Given the description of an element on the screen output the (x, y) to click on. 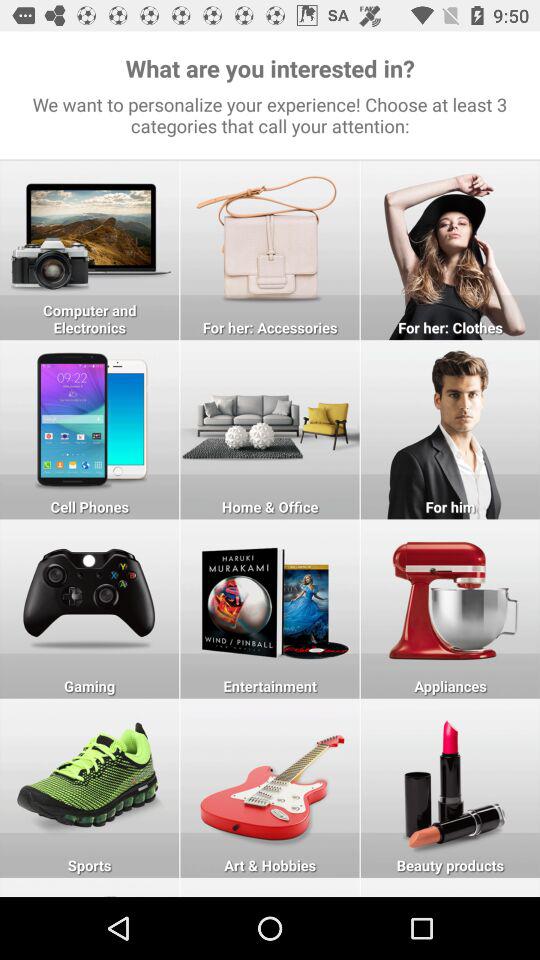
select appliances as interest (450, 608)
